Given the description of an element on the screen output the (x, y) to click on. 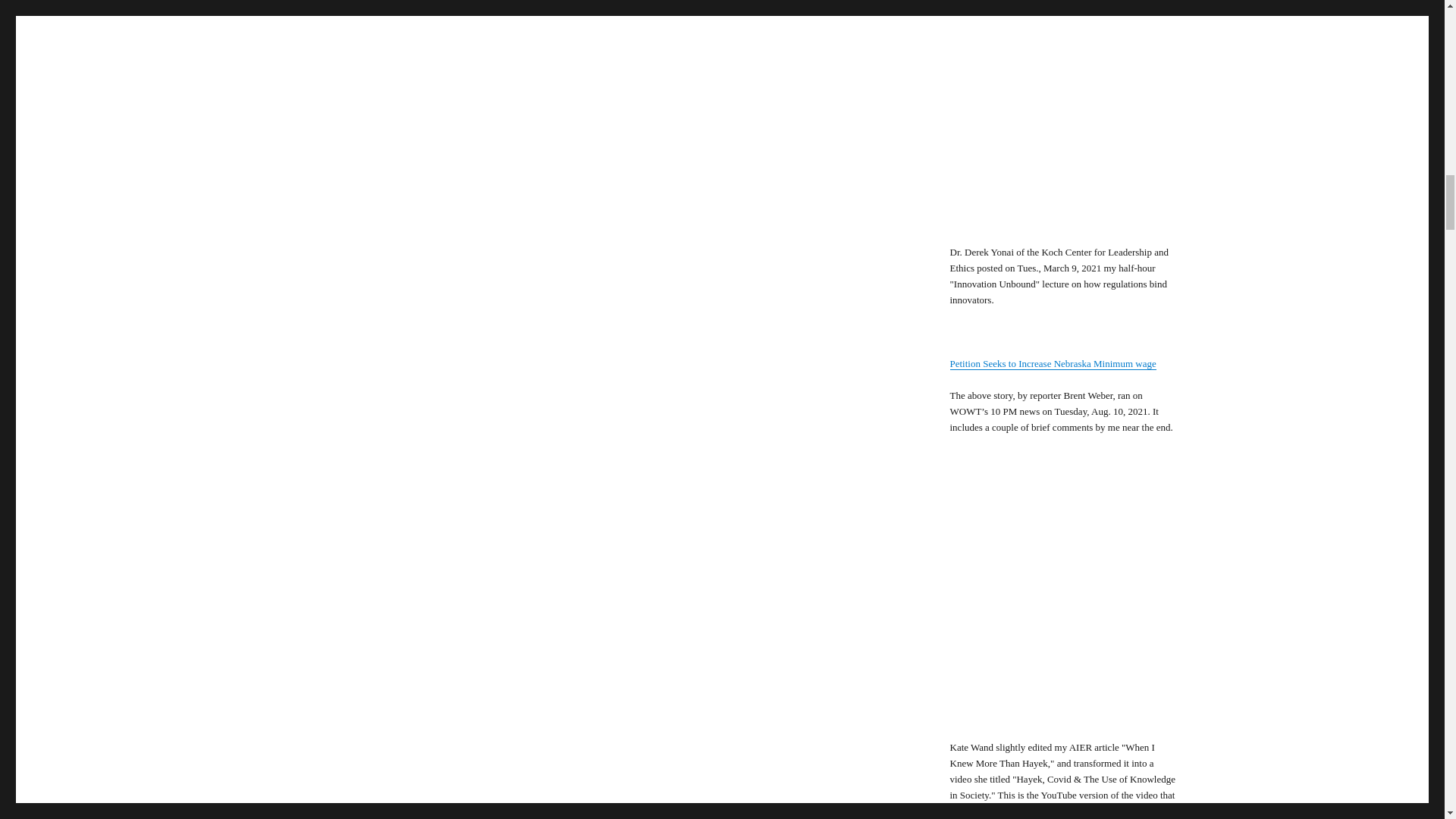
Petition Seeks to Increase Nebraska Minimum wage (1052, 363)
